Given the description of an element on the screen output the (x, y) to click on. 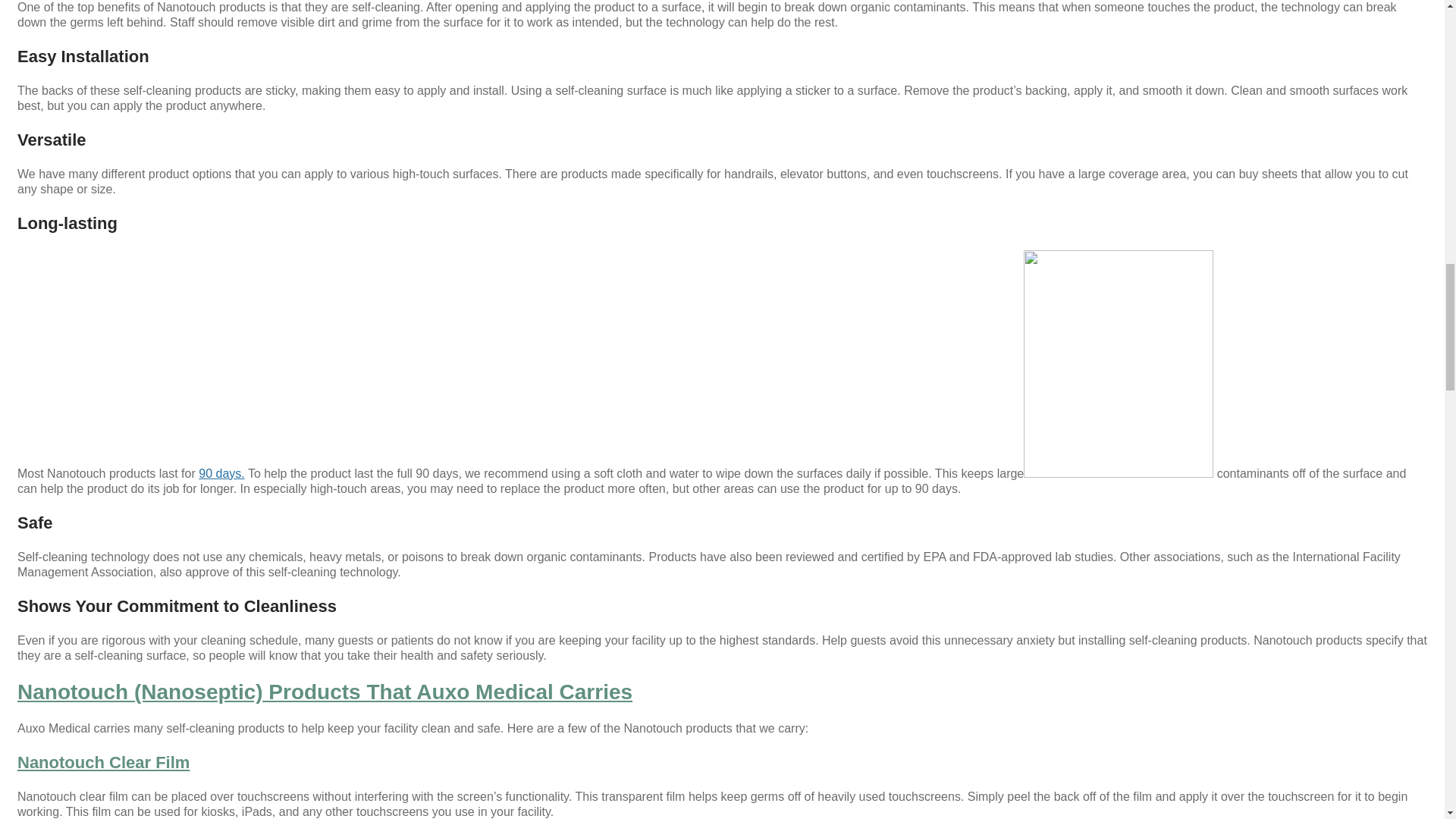
90 days. (221, 472)
